Given the description of an element on the screen output the (x, y) to click on. 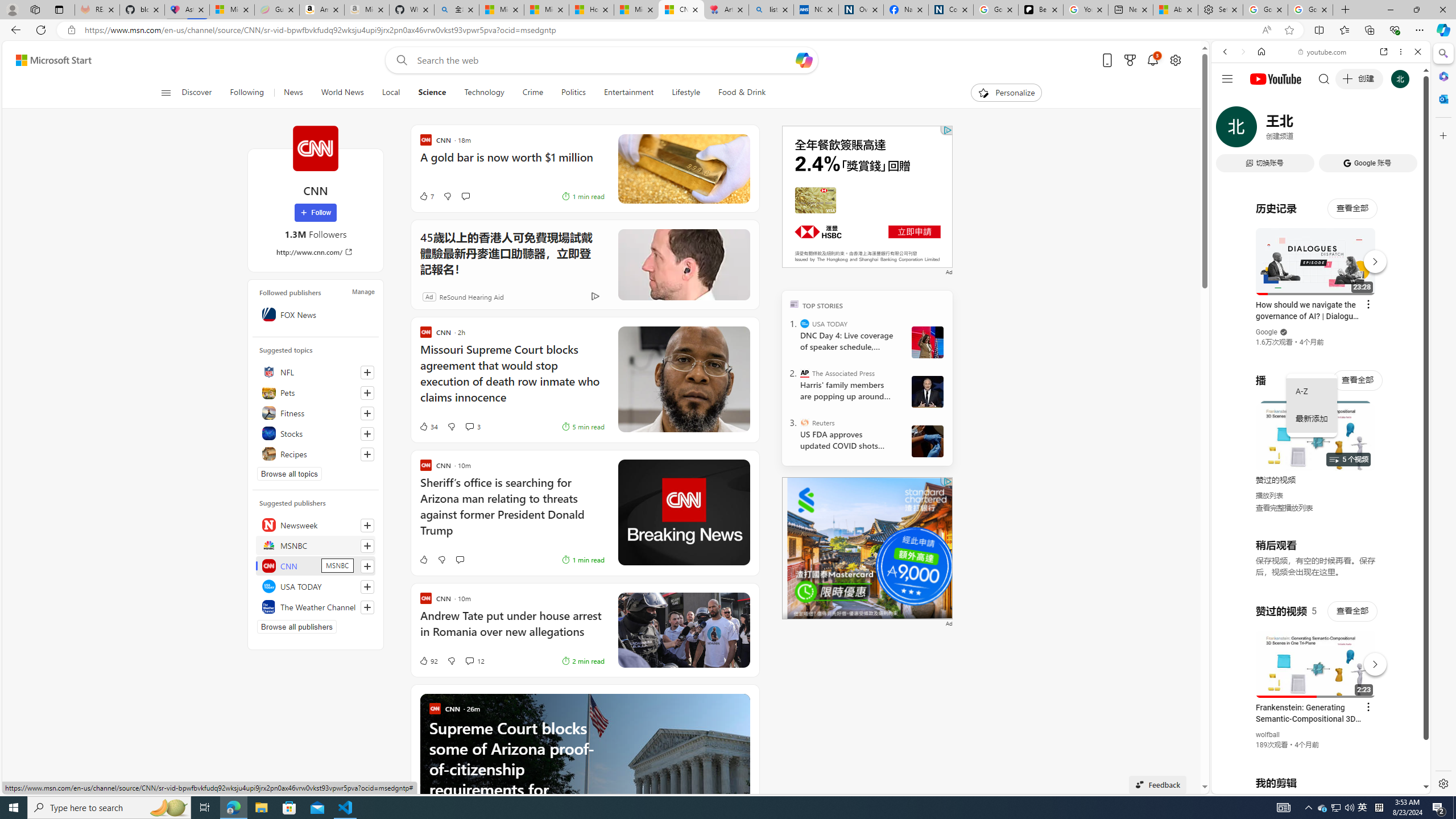
Browse all publishers (296, 626)
Food & Drink (737, 92)
Stocks (315, 433)
you (1315, 755)
Class: b_serphb (1404, 130)
